Given the description of an element on the screen output the (x, y) to click on. 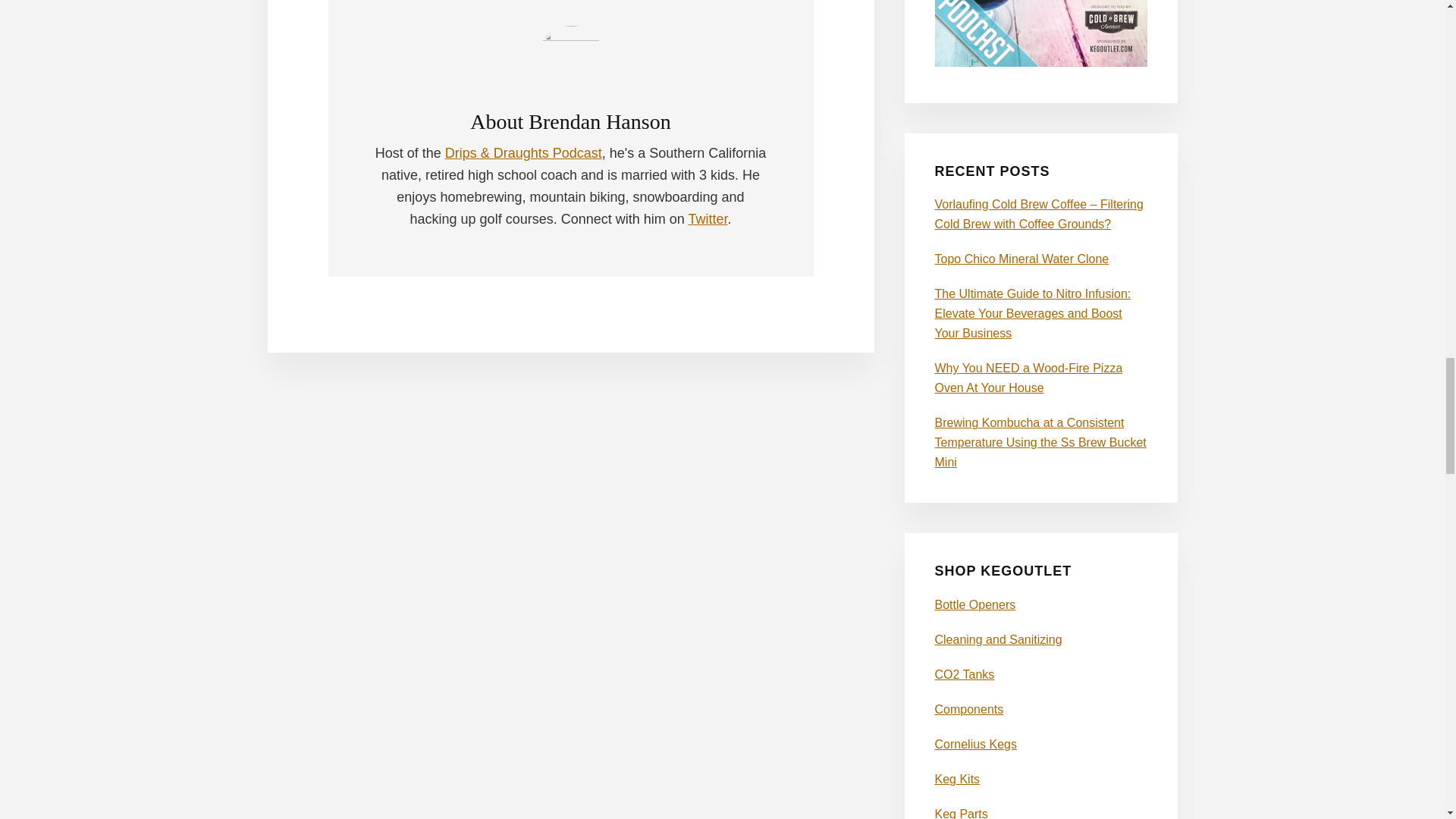
Keg Cleaning and Sanitizing Chemicals  (997, 639)
Keg Components (968, 708)
Wall Mount Bottle Openers and Cap Catchers (974, 604)
Cornelius Kegs, Corny Kegs (975, 744)
Corny Keg Parts, Cornelius Keg Parts (960, 813)
Homebrew Keg Kits (956, 779)
